Given the description of an element on the screen output the (x, y) to click on. 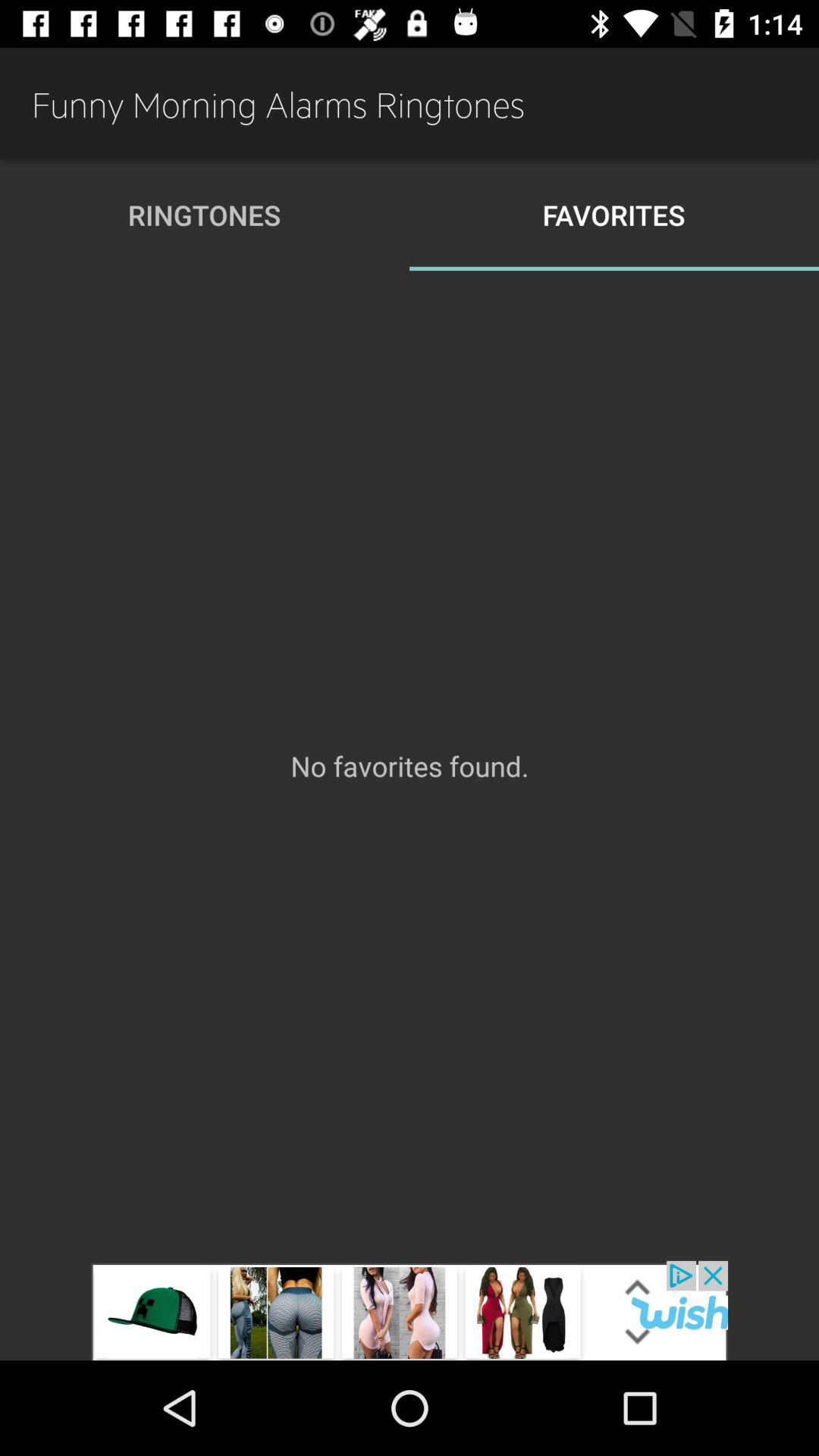
open advertisement (409, 1310)
